Given the description of an element on the screen output the (x, y) to click on. 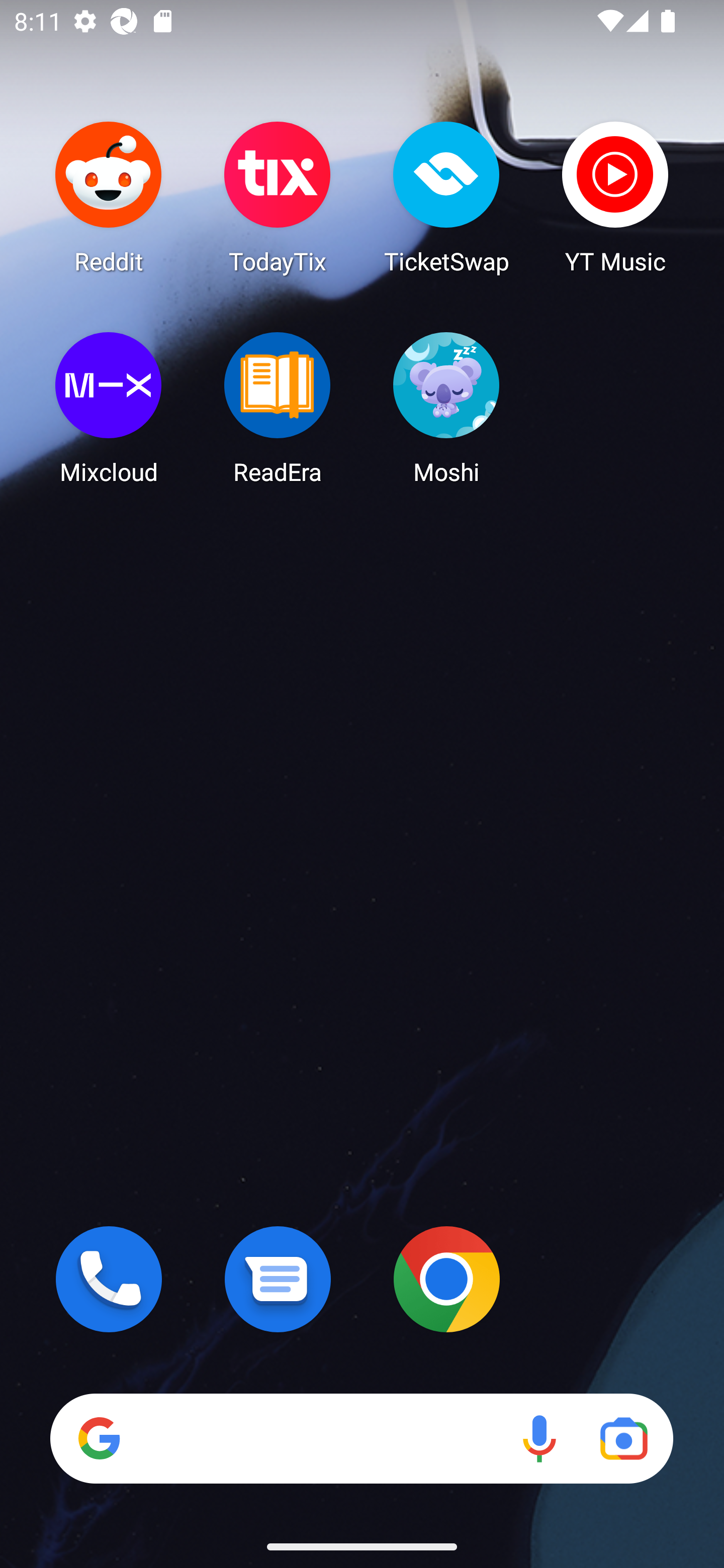
Reddit (108, 196)
TodayTix (277, 196)
TicketSwap (445, 196)
YT Music (615, 196)
Mixcloud (108, 407)
ReadEra (277, 407)
Moshi (445, 407)
Phone (108, 1279)
Messages (277, 1279)
Chrome (446, 1279)
Voice search (539, 1438)
Google Lens (623, 1438)
